Given the description of an element on the screen output the (x, y) to click on. 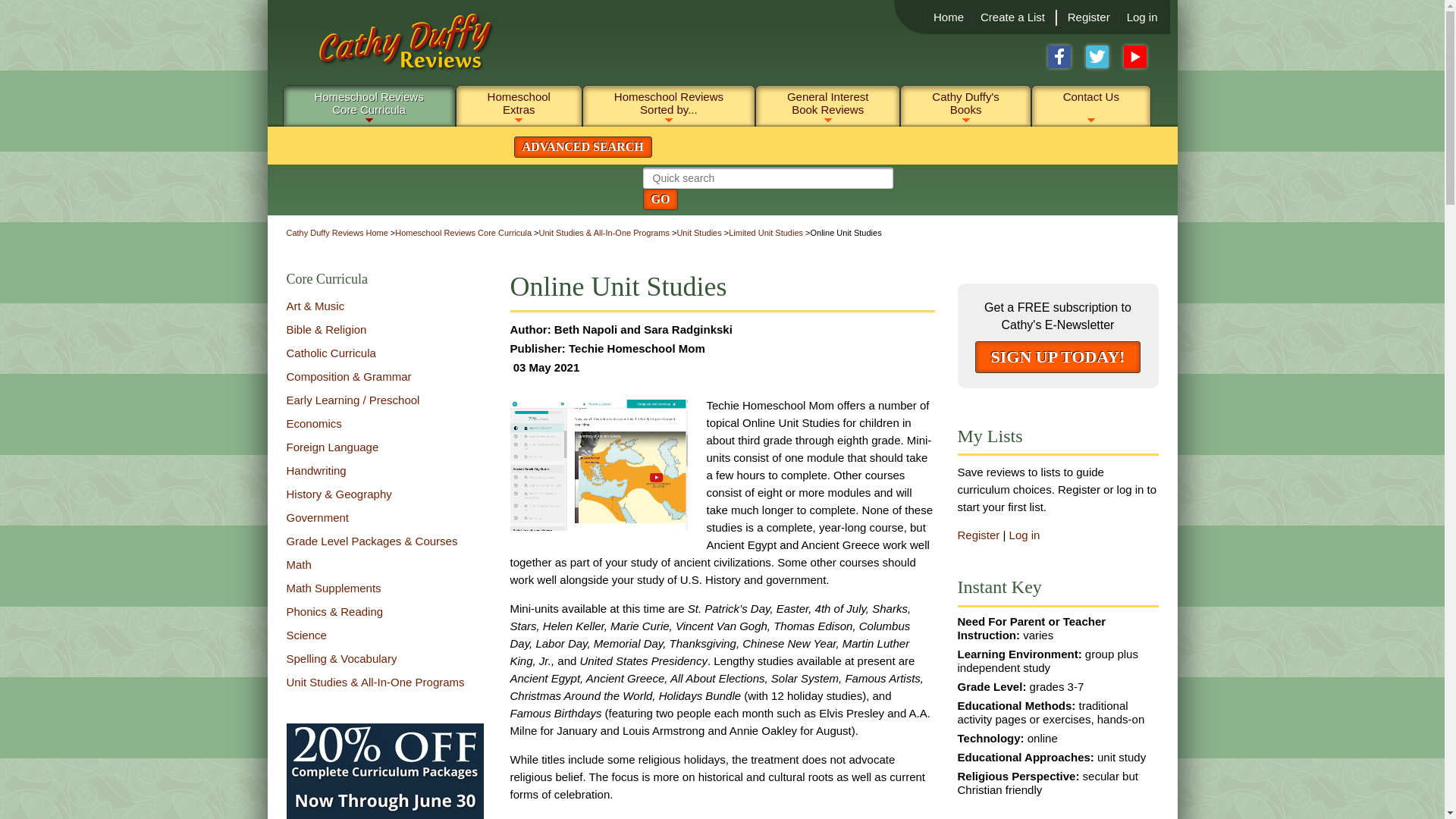
Cathy Duffy Homeschool Curriculum Reviews (393, 48)
Sign Up today! (368, 101)
Log in (1058, 357)
Create a List (1141, 16)
Home (1012, 16)
Online Unit Studies (948, 16)
Register (598, 464)
Written by  (1088, 16)
Published by  (601, 329)
